Given the description of an element on the screen output the (x, y) to click on. 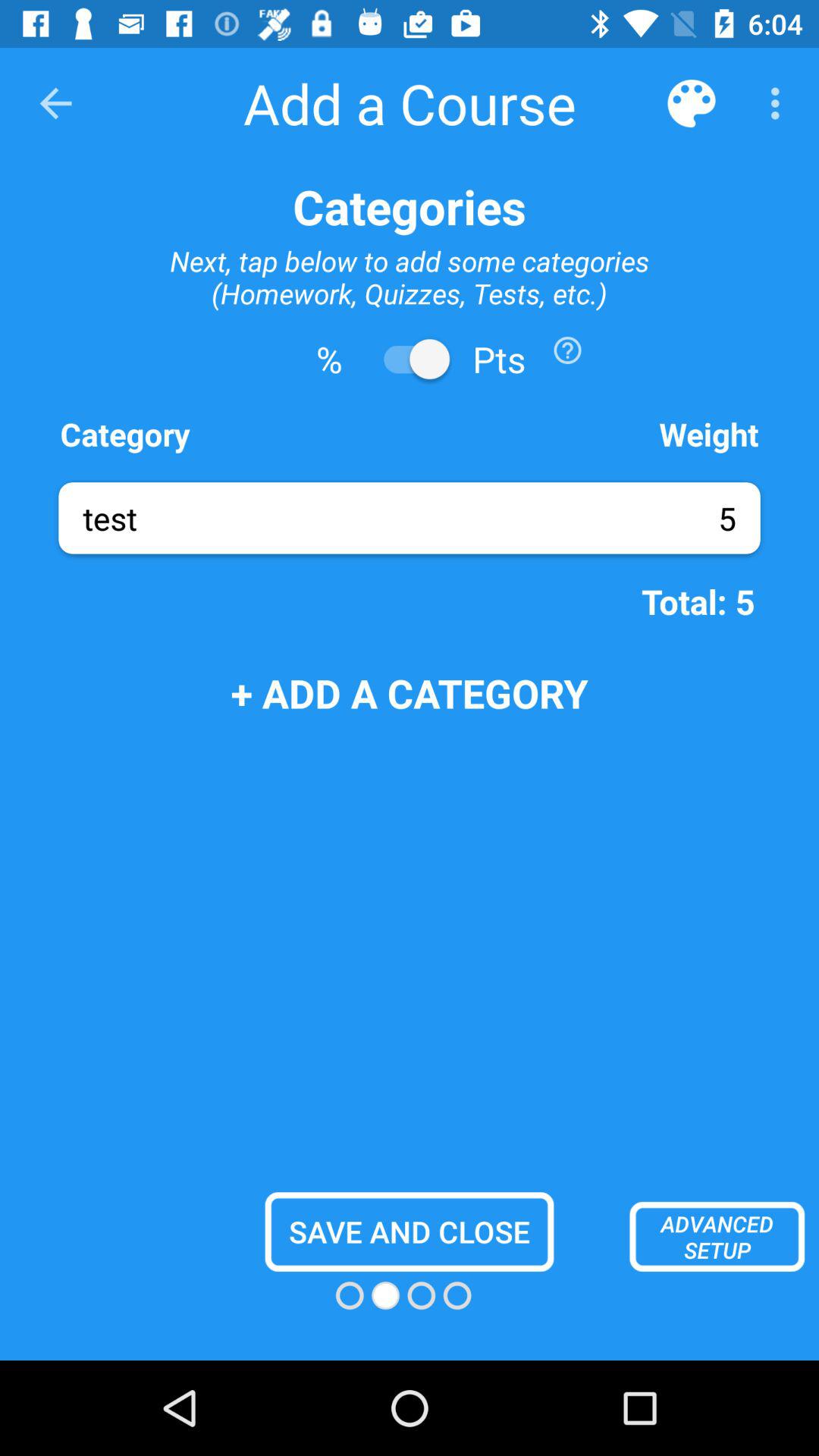
flip to the advanced
setup icon (716, 1236)
